Given the description of an element on the screen output the (x, y) to click on. 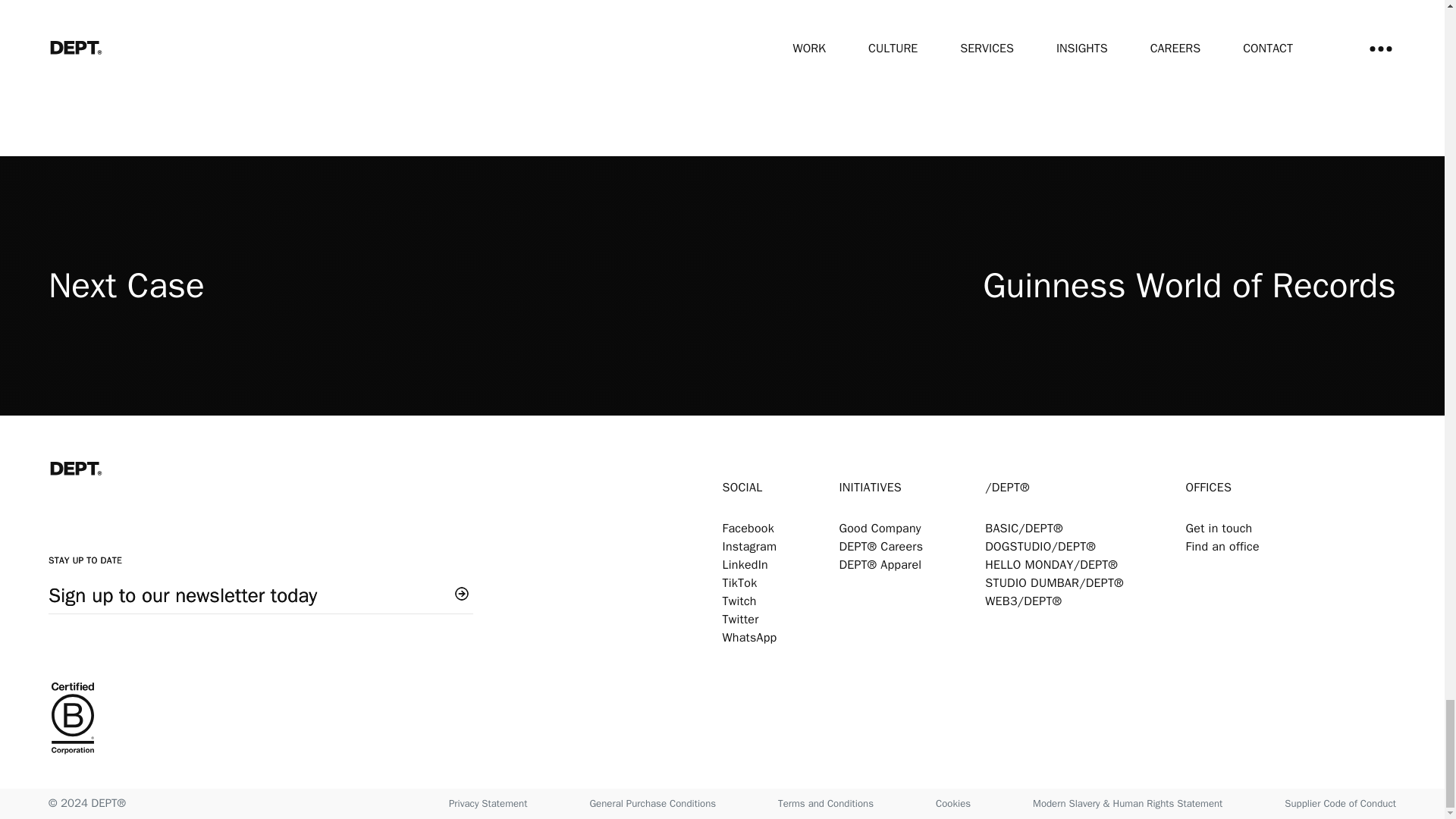
Trainline (1177, 40)
SkyTeam (726, 40)
Certified BCorp corporation (385, 719)
